Given the description of an element on the screen output the (x, y) to click on. 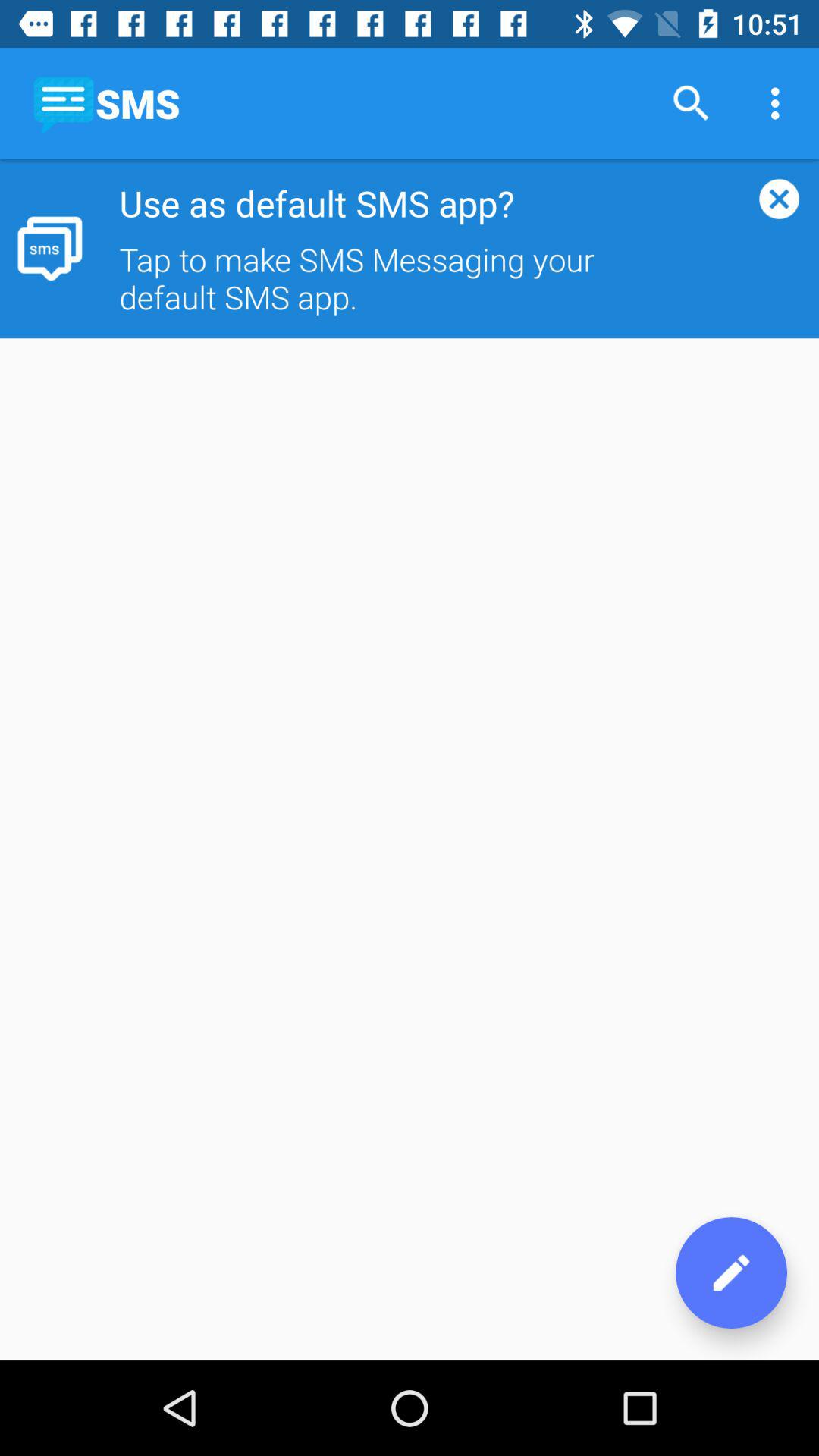
click the app to the right of sms app (691, 103)
